Given the description of an element on the screen output the (x, y) to click on. 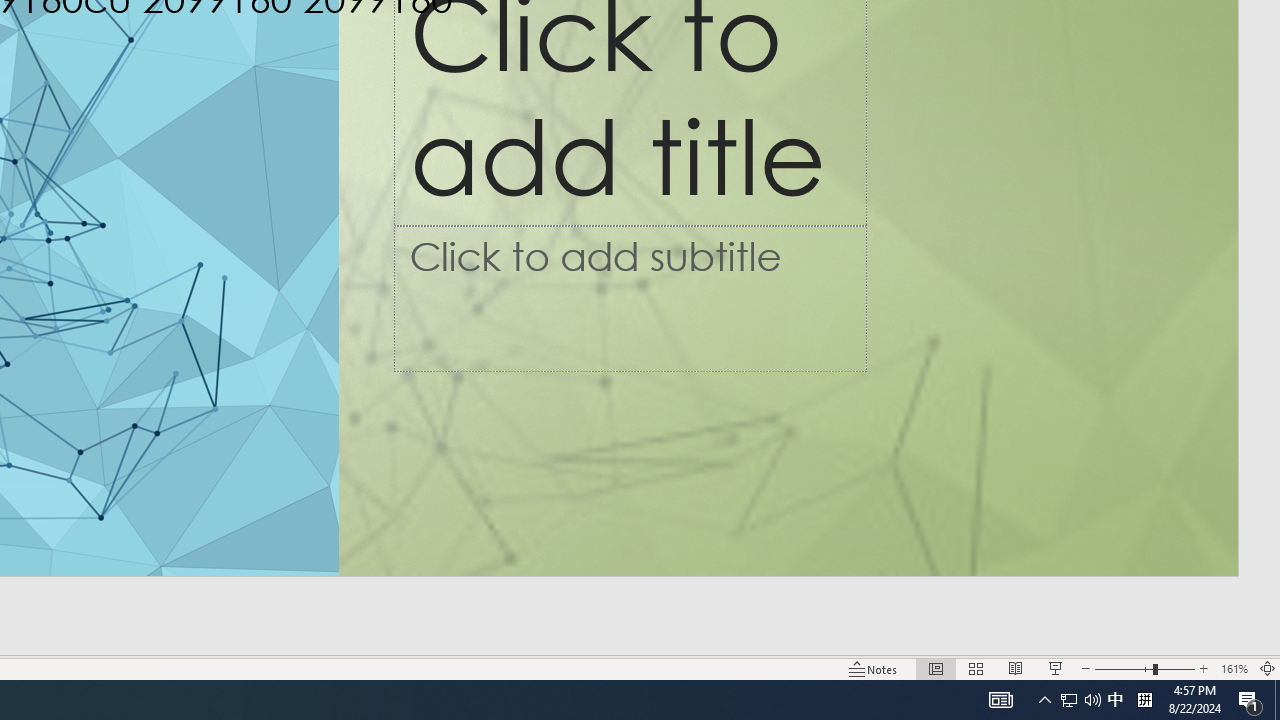
Zoom 161% (1234, 668)
